Given the description of an element on the screen output the (x, y) to click on. 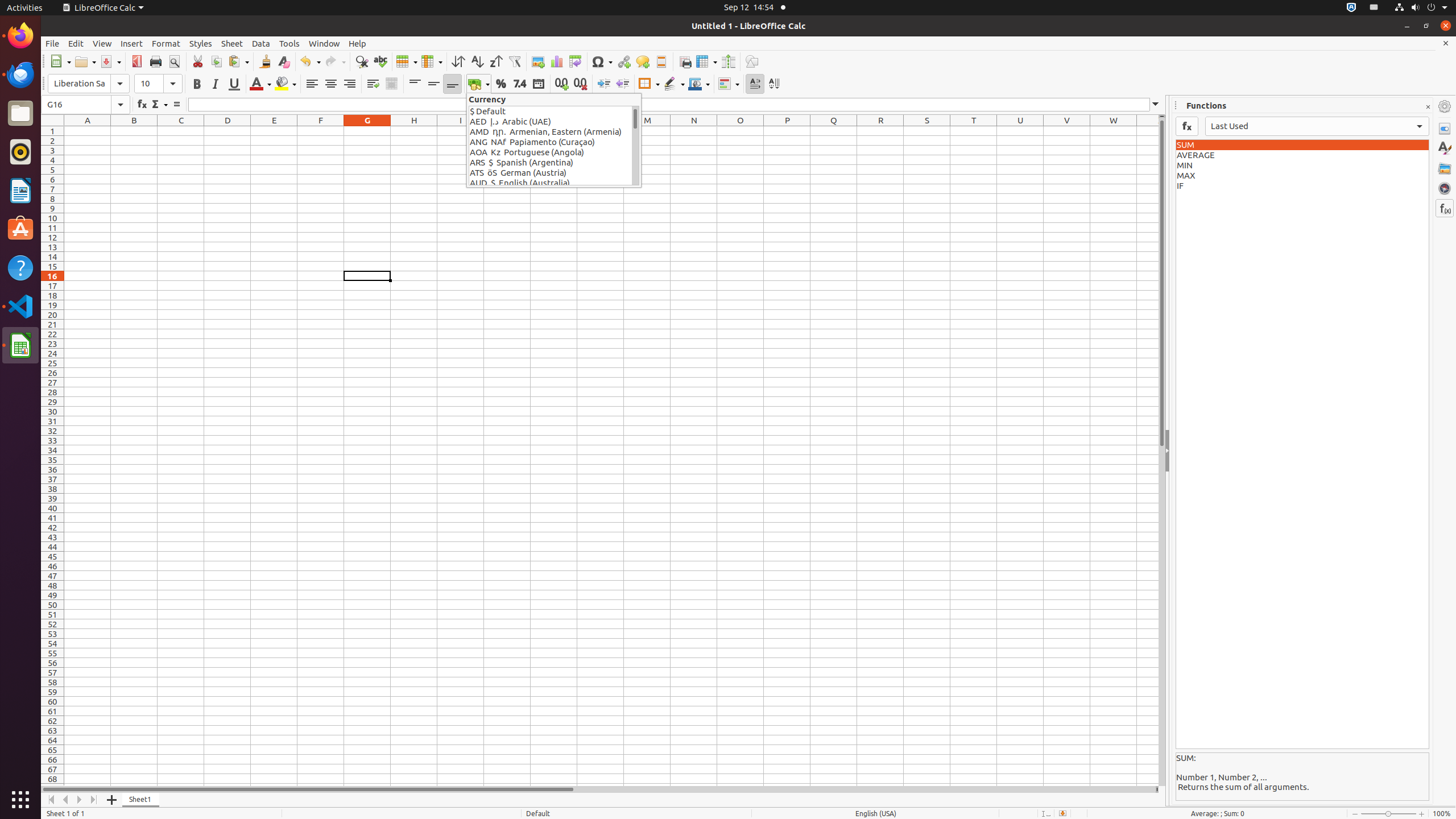
O1 Element type: table-cell (740, 130)
Print Area Element type: push-button (684, 61)
Close Sidebar Deck Element type: push-button (1427, 106)
Image Element type: push-button (537, 61)
